Given the description of an element on the screen output the (x, y) to click on. 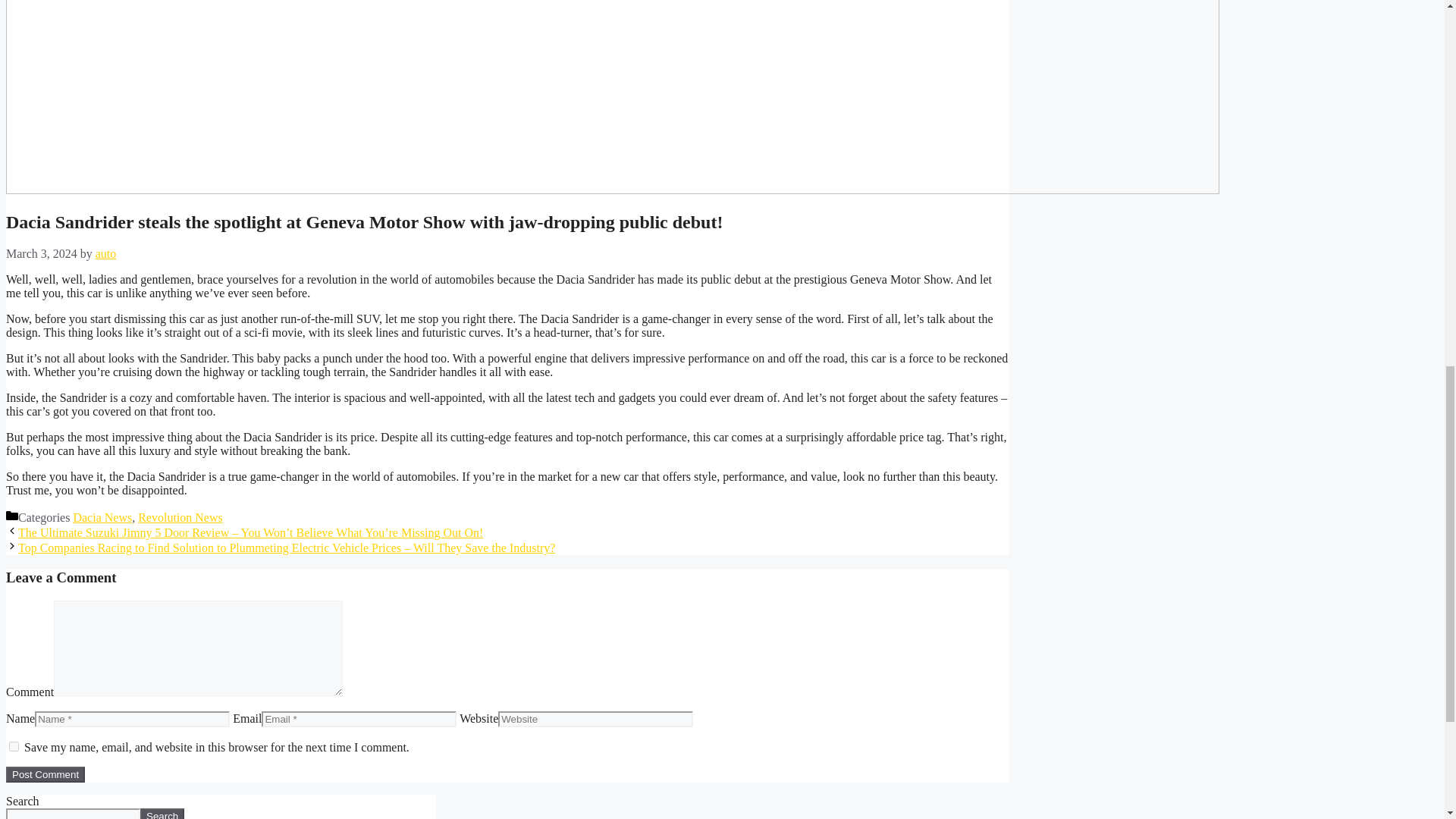
auto (106, 253)
View all posts by auto (106, 253)
Dacia News (102, 517)
yes (13, 746)
Revolution News (180, 517)
Post Comment (44, 774)
Post Comment (44, 774)
Search (161, 813)
